Given the description of an element on the screen output the (x, y) to click on. 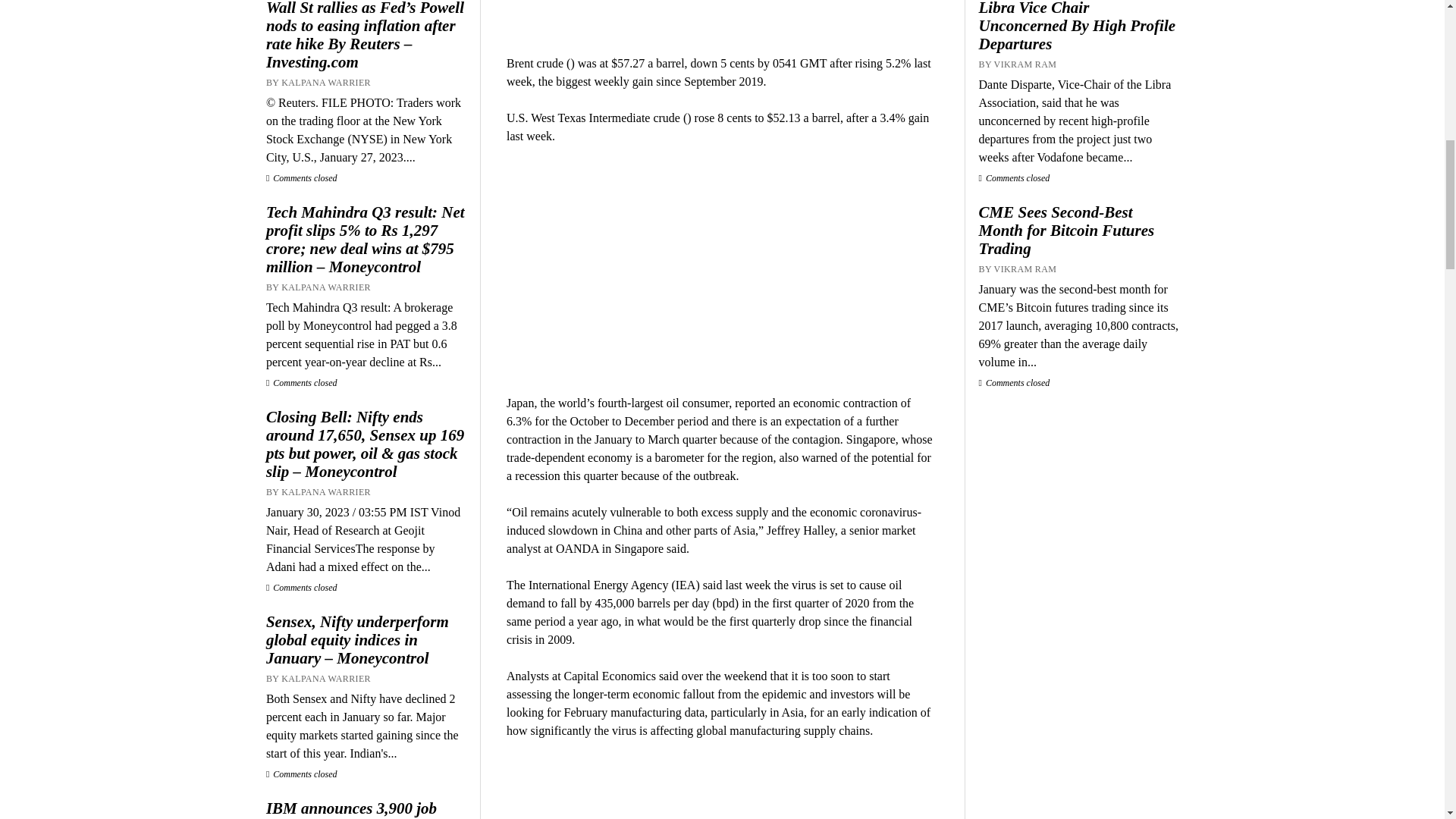
Comments closed (301, 587)
Comments closed (301, 774)
Comments closed (301, 382)
Comments closed (301, 177)
